Given the description of an element on the screen output the (x, y) to click on. 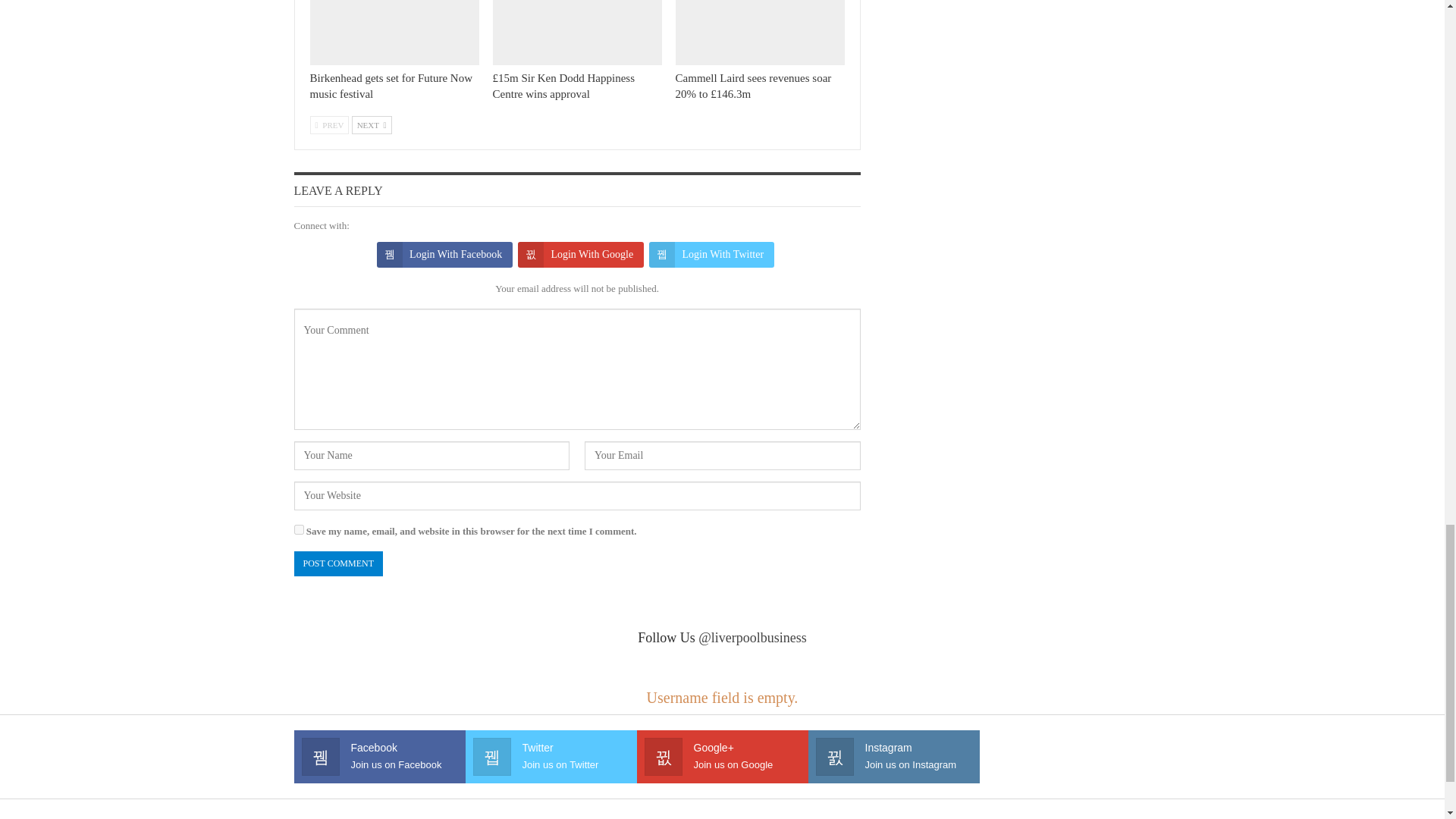
Post Comment (338, 563)
Next (371, 125)
Previous (328, 125)
yes (299, 529)
Birkenhead gets set for Future Now music festival (393, 32)
